Given the description of an element on the screen output the (x, y) to click on. 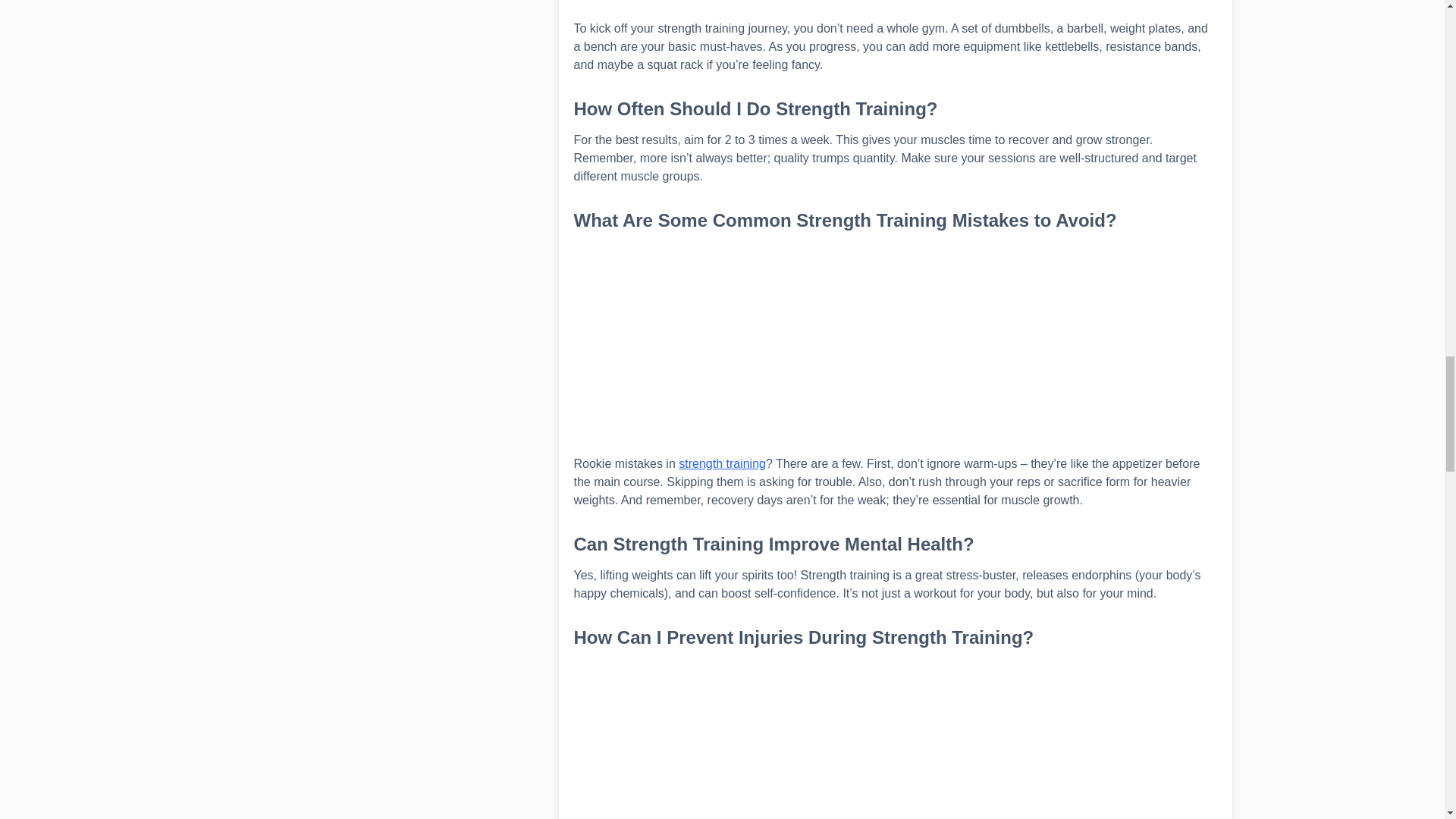
Advertisement (895, 739)
Advertisement (895, 9)
strength training (721, 463)
